Given the description of an element on the screen output the (x, y) to click on. 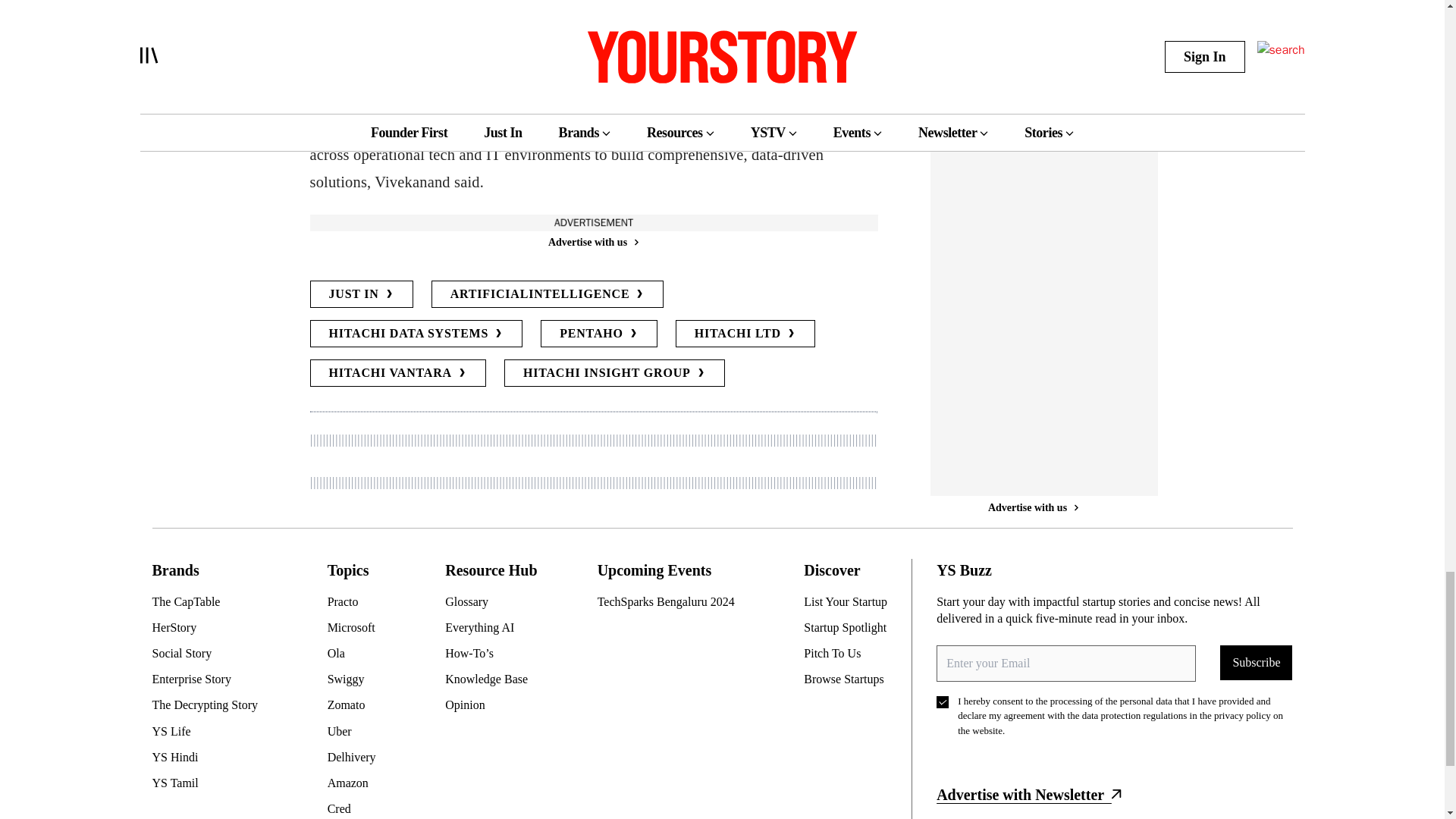
ARTIFICIALINTELLIGENCE (546, 293)
HITACHI DATA SYSTEMS (415, 333)
Advertise with us (592, 242)
HITACHI LTD (745, 333)
HITACHI INSIGHT GROUP (614, 372)
JUST IN (360, 293)
HITACHI VANTARA (396, 372)
PENTAHO (599, 333)
